Given the description of an element on the screen output the (x, y) to click on. 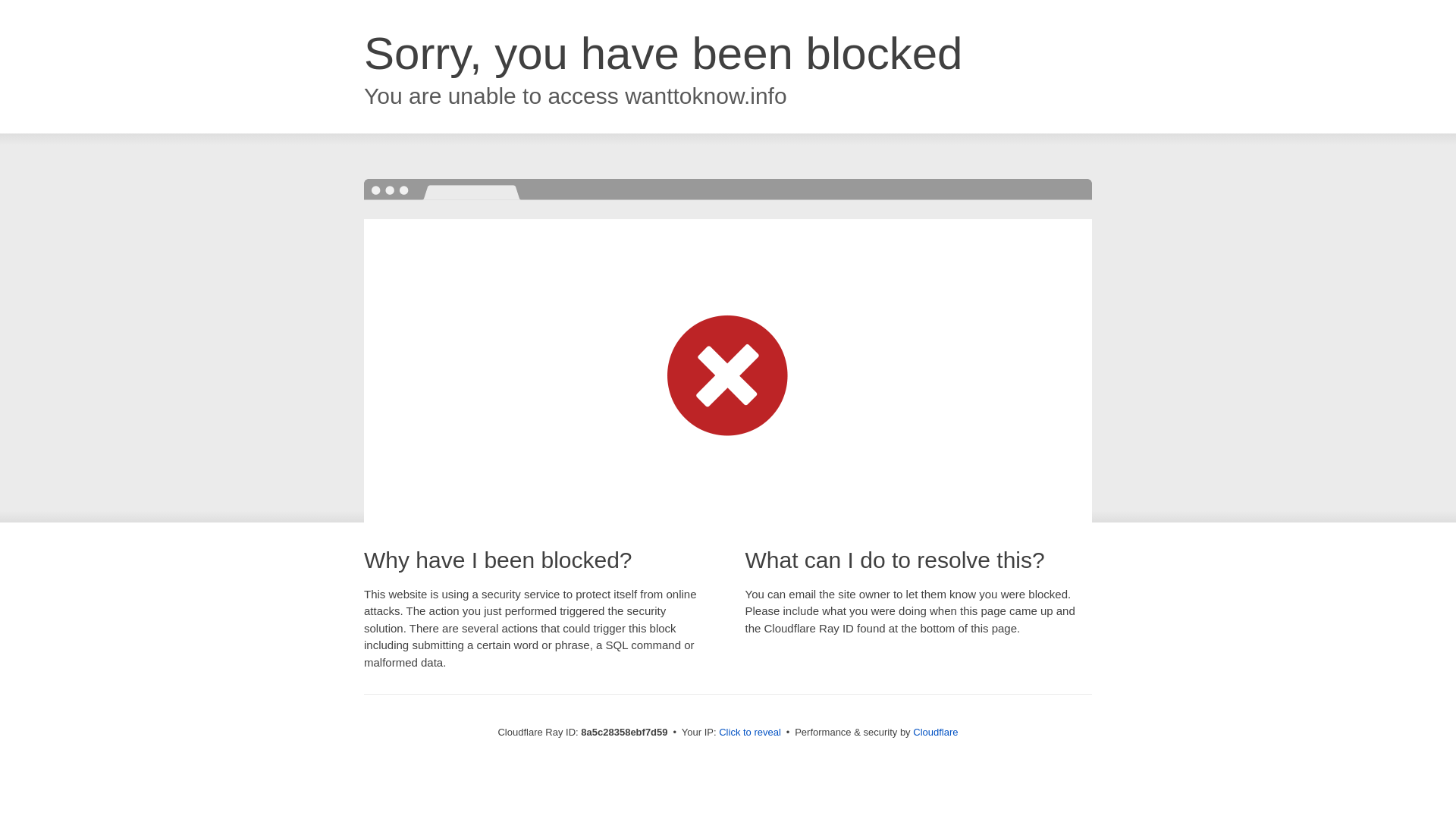
Click to reveal (749, 732)
Cloudflare (935, 731)
